Given the description of an element on the screen output the (x, y) to click on. 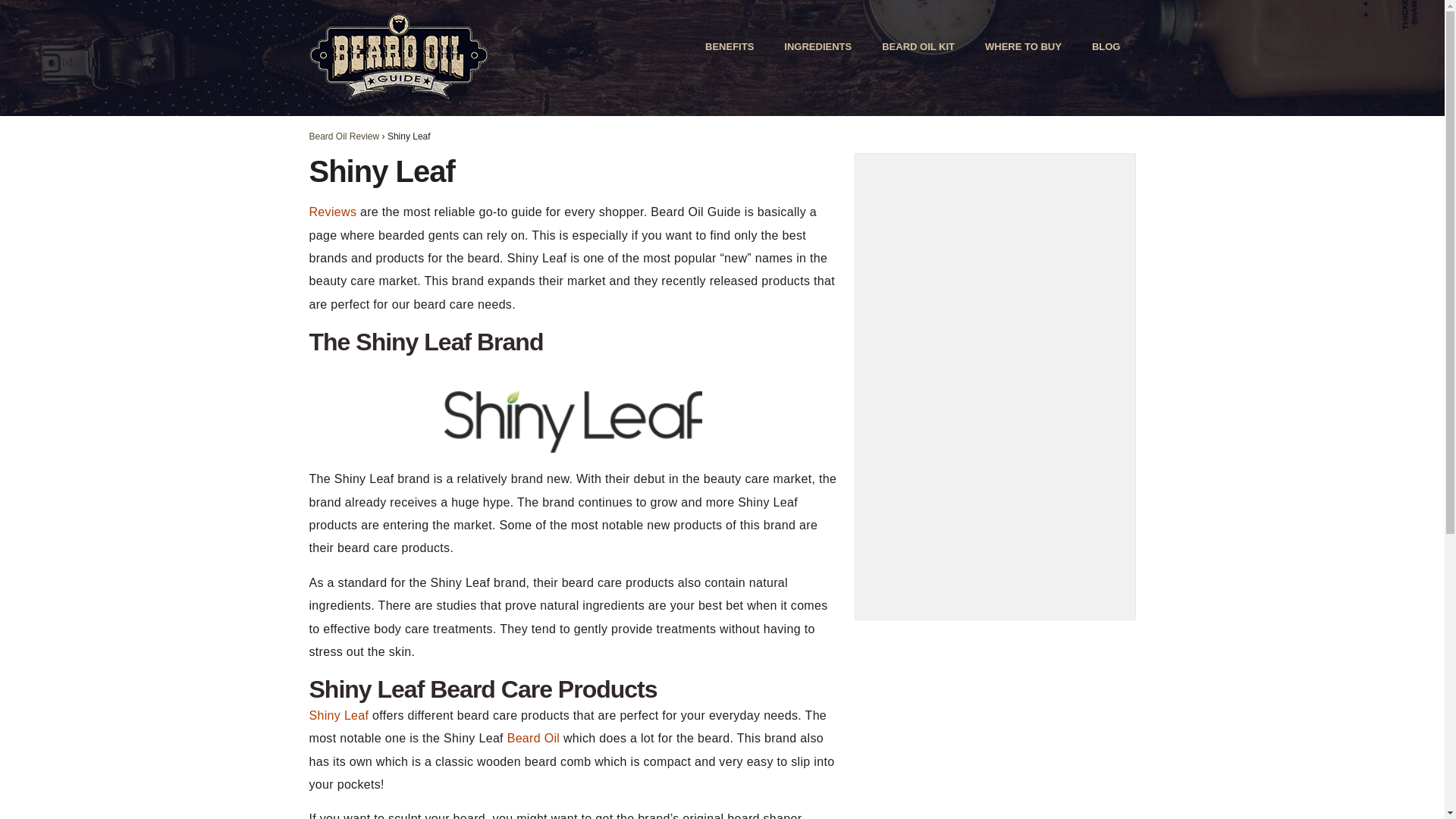
BENEFITS (729, 46)
Shiny Leaf (338, 715)
WHERE TO BUY (1023, 46)
Beard Oil Review (344, 136)
BLOG (1106, 46)
Reviews (332, 211)
Beard Oil (533, 738)
Beard Oil Review (344, 136)
INGREDIENTS (817, 46)
BEARD OIL KIT (917, 46)
